Given the description of an element on the screen output the (x, y) to click on. 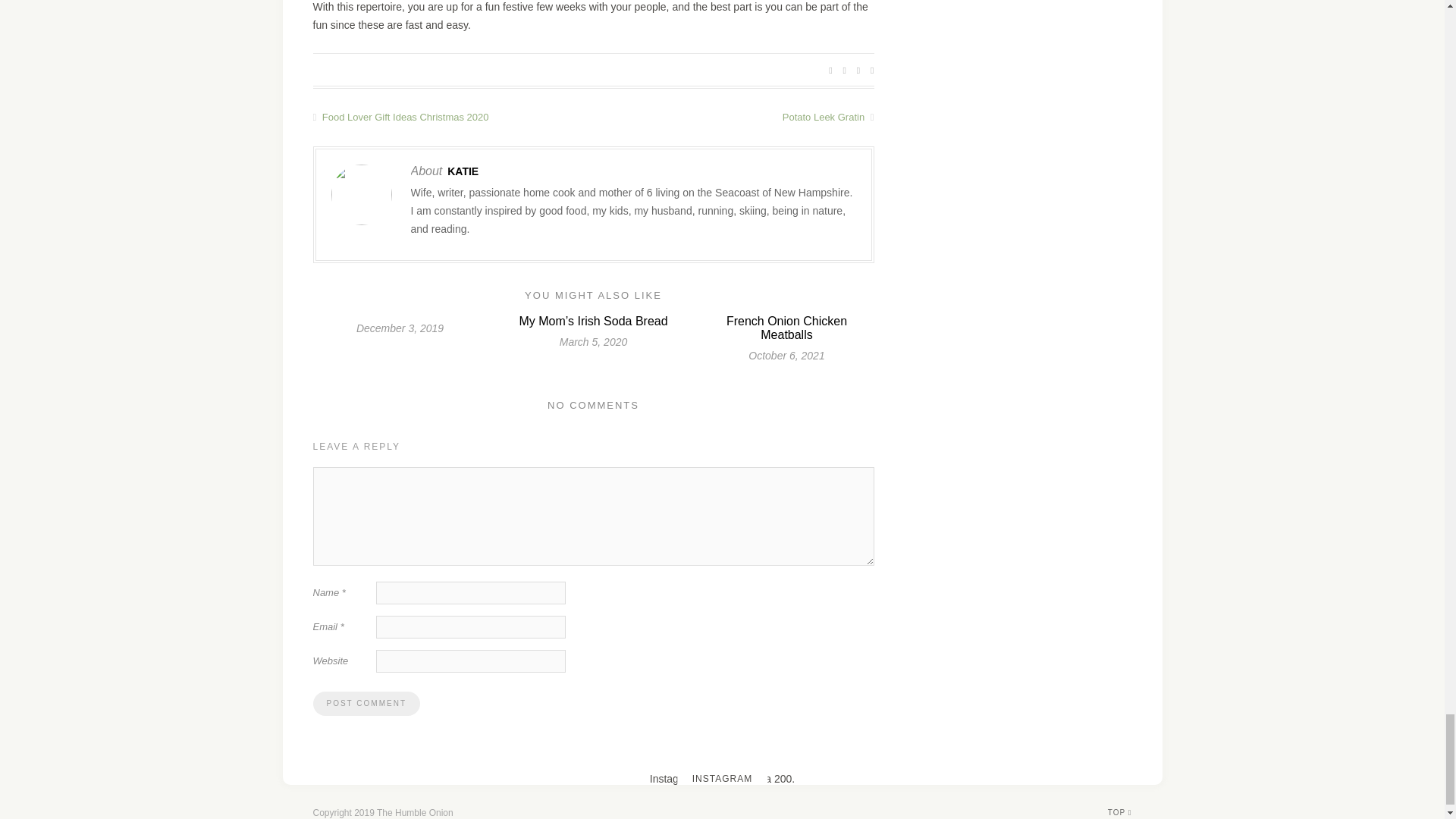
Posts by Katie (462, 171)
French Onion Chicken Meatballs (786, 326)
KATIE (462, 171)
Post Comment (366, 703)
Post Comment (366, 703)
Potato Leek Gratin (732, 116)
Food Lover Gift Ideas Christmas 2020 (452, 116)
